Given the description of an element on the screen output the (x, y) to click on. 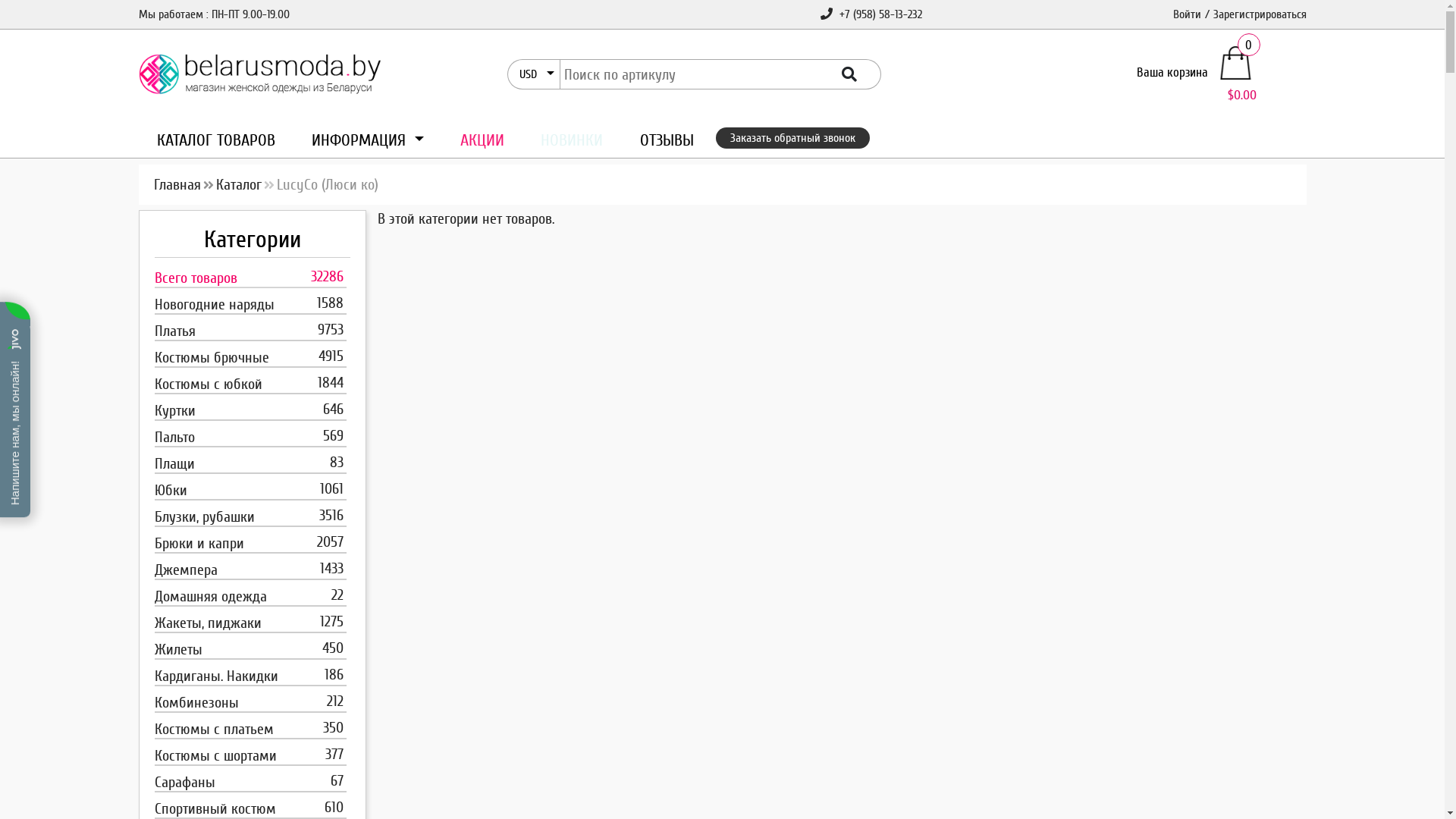
+7 (958) 58-13-232 Element type: text (871, 14)
